Given the description of an element on the screen output the (x, y) to click on. 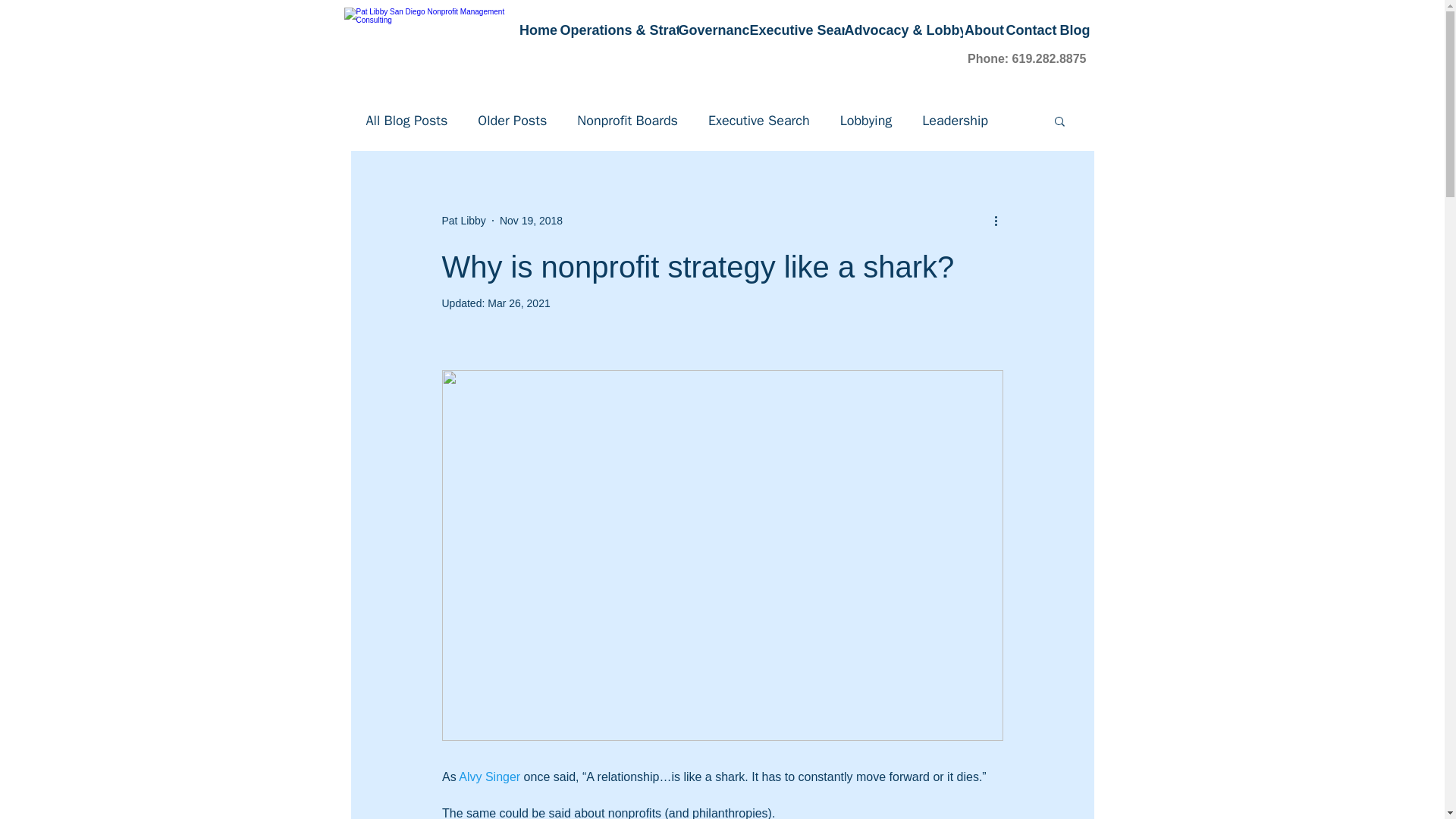
Leadership (954, 120)
Lobbying (866, 120)
Contact (1031, 30)
Mar 26, 2021 (518, 303)
About (984, 30)
Nonprofit Boards (627, 120)
Home (538, 30)
Governance (713, 30)
Nov 19, 2018 (530, 219)
Executive Search (796, 30)
